Given the description of an element on the screen output the (x, y) to click on. 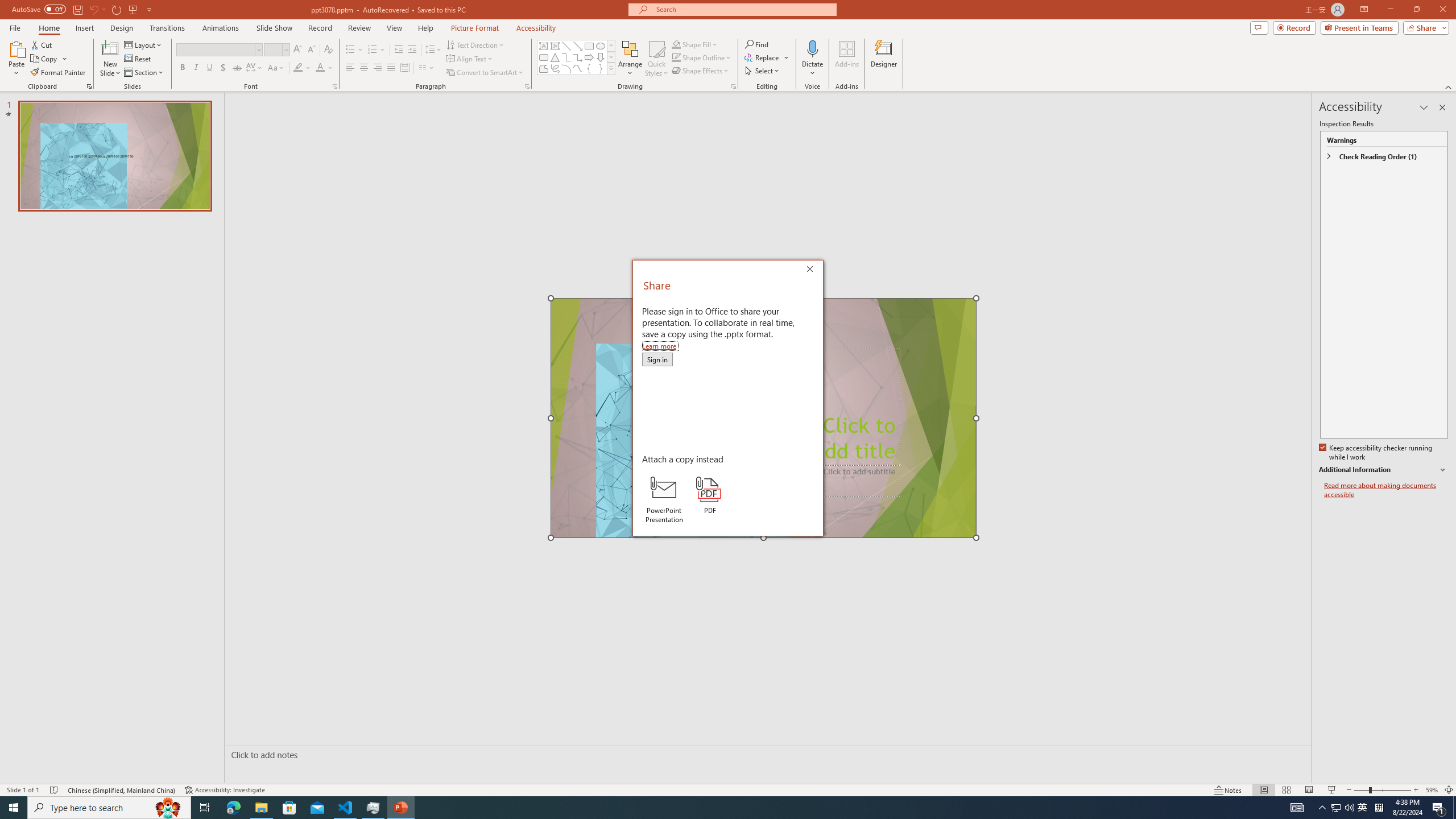
Learn more (660, 345)
Sign in (657, 359)
Picture Format (475, 28)
